Given the description of an element on the screen output the (x, y) to click on. 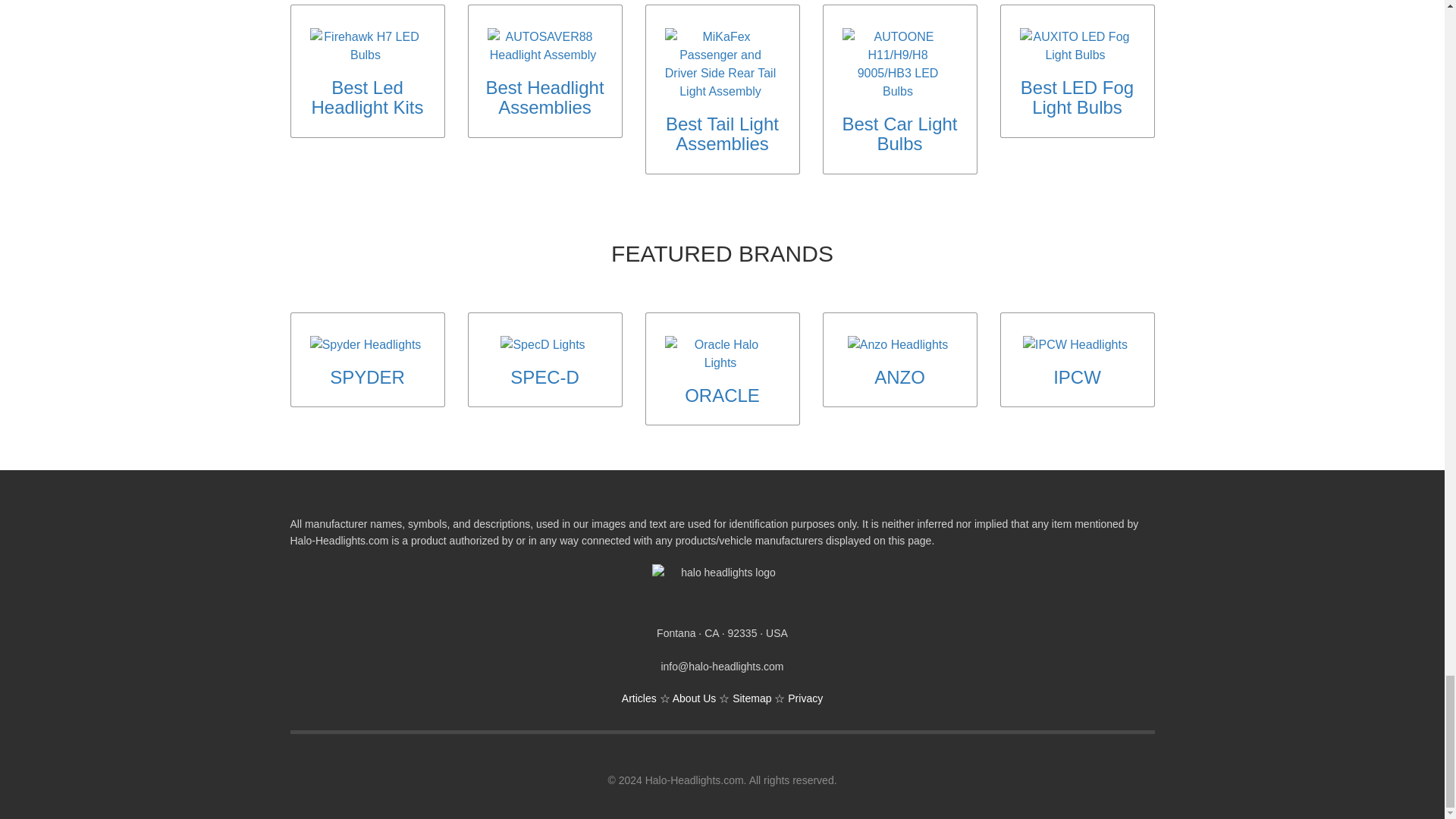
IPCW Headlights (1074, 344)
SpecD Lights (542, 344)
AUXITO LED Fog Light Bulbs (1075, 45)
Oracle Halo Lights (719, 353)
spyder headlihgts (366, 344)
AUTOONE LED Bulbs (897, 63)
MiKaFex Passenger and Driver Side Rear Tail Light Assembly (719, 63)
Firehawk H7 LED Bulbs (364, 45)
AUTOSAVER88 Headlight Assembly (542, 45)
Anzo Headlights (898, 344)
